Given the description of an element on the screen output the (x, y) to click on. 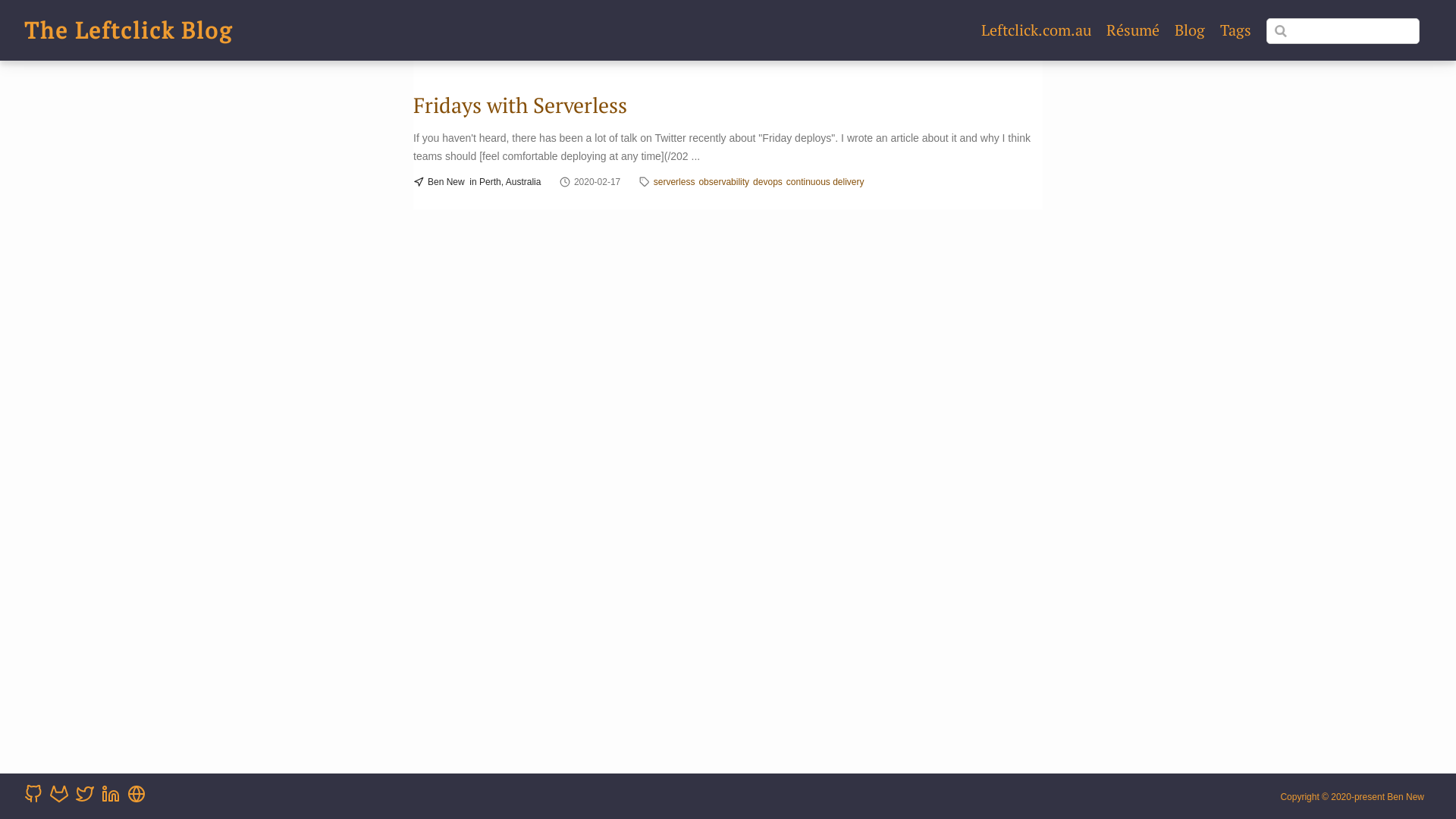
devops Element type: text (767, 181)
Blog Element type: text (1189, 29)
The Leftclick Blog Element type: text (128, 30)
observability Element type: text (723, 181)
Leftclick.com.au Element type: text (1036, 29)
continuous delivery Element type: text (825, 181)
Fridays with Serverless Element type: text (520, 105)
Tags Element type: text (1235, 29)
serverless Element type: text (674, 181)
